Given the description of an element on the screen output the (x, y) to click on. 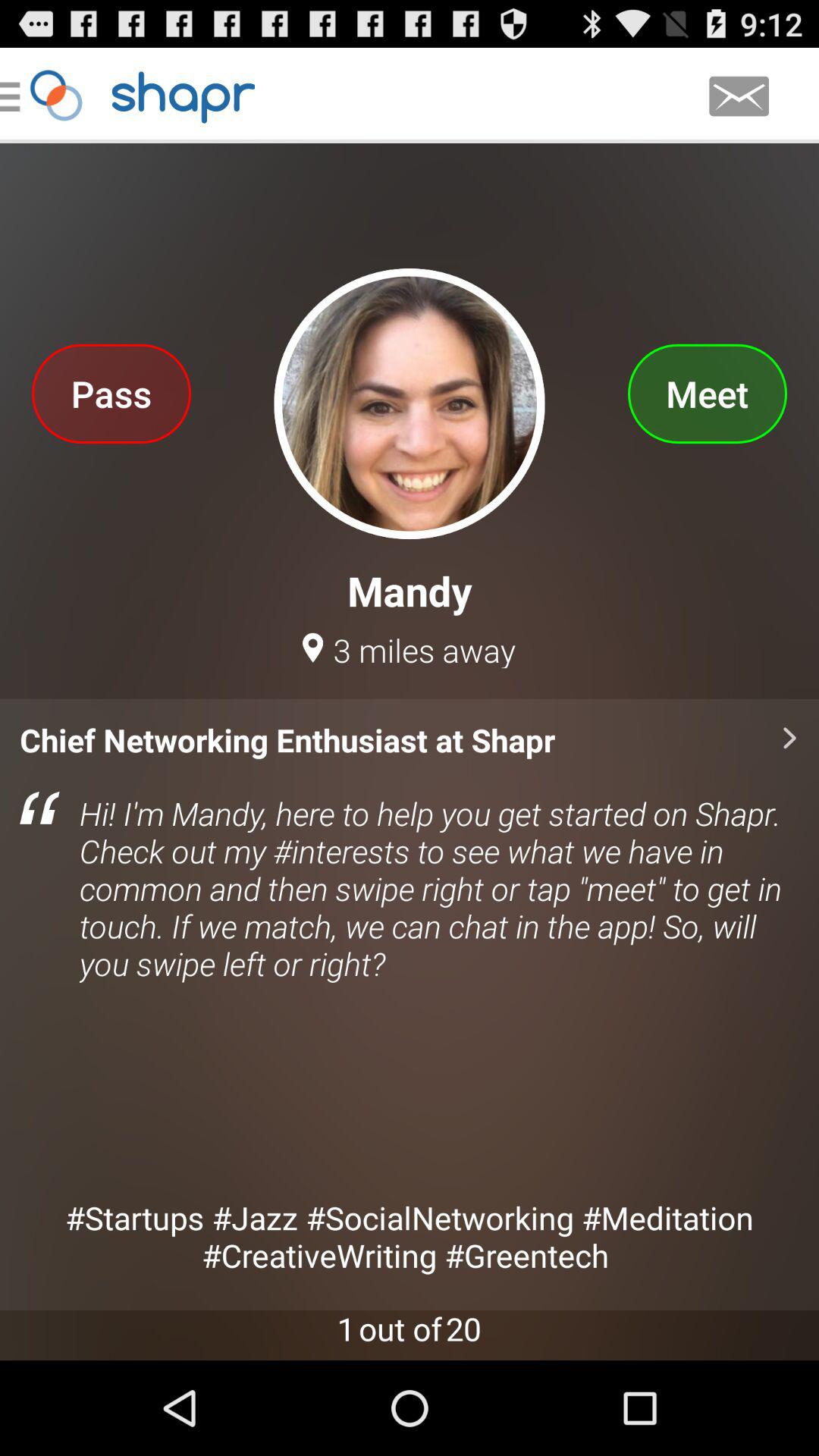
turn on the pass app (111, 393)
